Given the description of an element on the screen output the (x, y) to click on. 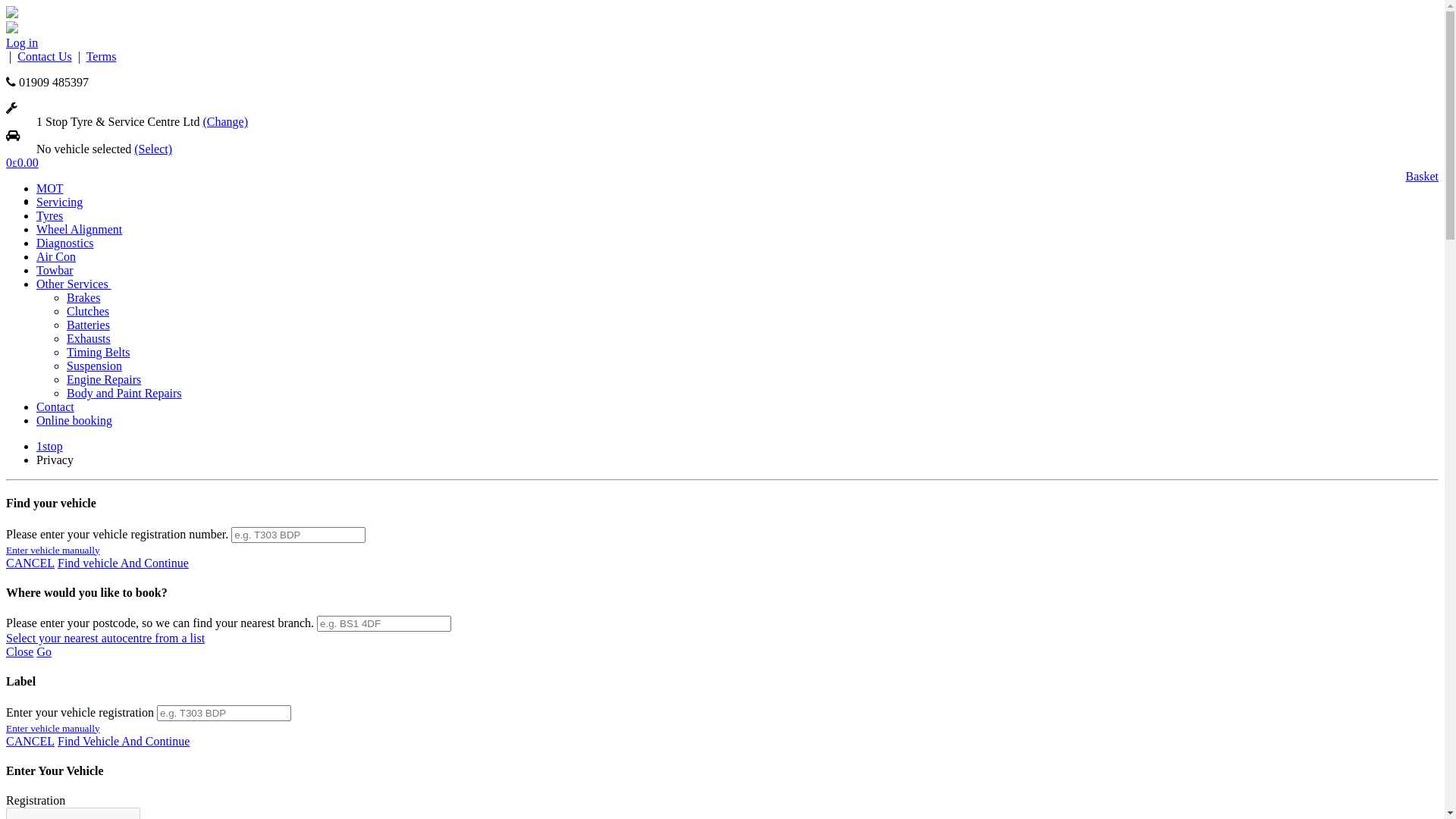
Suspension Element type: text (94, 365)
Log in Element type: text (21, 42)
Engine Repairs Element type: text (103, 379)
Diagnostics Element type: text (65, 242)
Select your nearest autocentre from a list Element type: text (105, 637)
Batteries Element type: text (87, 324)
Enter vehicle manually Element type: text (53, 728)
CANCEL Element type: text (30, 563)
Tyres Element type: text (49, 215)
Wheel Alignment Element type: text (79, 228)
Brakes Element type: text (83, 297)
Exhausts Element type: text (88, 338)
Timing Belts Element type: text (97, 351)
Terms Element type: text (101, 56)
Body and Paint Repairs Element type: text (124, 392)
(Select) Element type: text (153, 148)
1stop Element type: text (49, 445)
Servicing Element type: text (59, 201)
Close Element type: text (19, 651)
(Change) Element type: text (224, 121)
Air Con Element type: text (55, 256)
Other Services  Element type: text (73, 283)
Enter vehicle manually Element type: text (53, 549)
Towbar Element type: text (54, 269)
Find vehicle And Continue Element type: text (122, 563)
Find Vehicle And Continue Element type: text (123, 741)
Contact Us Element type: text (44, 56)
Go Element type: text (43, 651)
Contact Element type: text (55, 406)
Online booking Element type: text (74, 420)
Basket Element type: text (1421, 176)
MOT Element type: text (49, 188)
CANCEL Element type: text (30, 741)
Clutches Element type: text (87, 310)
